Given the description of an element on the screen output the (x, y) to click on. 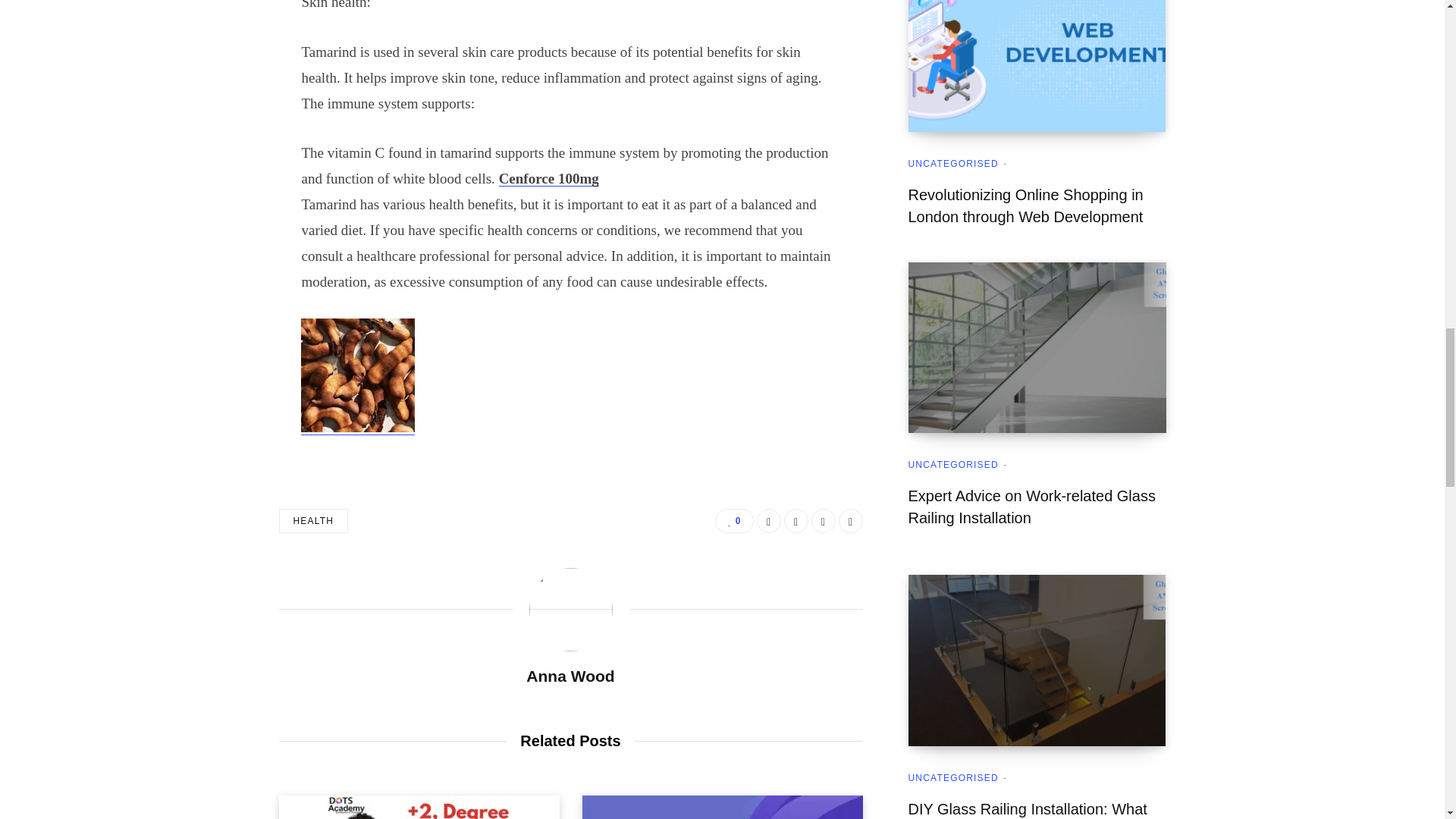
0 (733, 520)
HEALTH (314, 520)
Anna Wood (569, 676)
Share on Twitter (796, 520)
Cenforce 100mg (548, 178)
Pinterest (850, 520)
LinkedIn (822, 520)
Share on Facebook (768, 520)
